Given the description of an element on the screen output the (x, y) to click on. 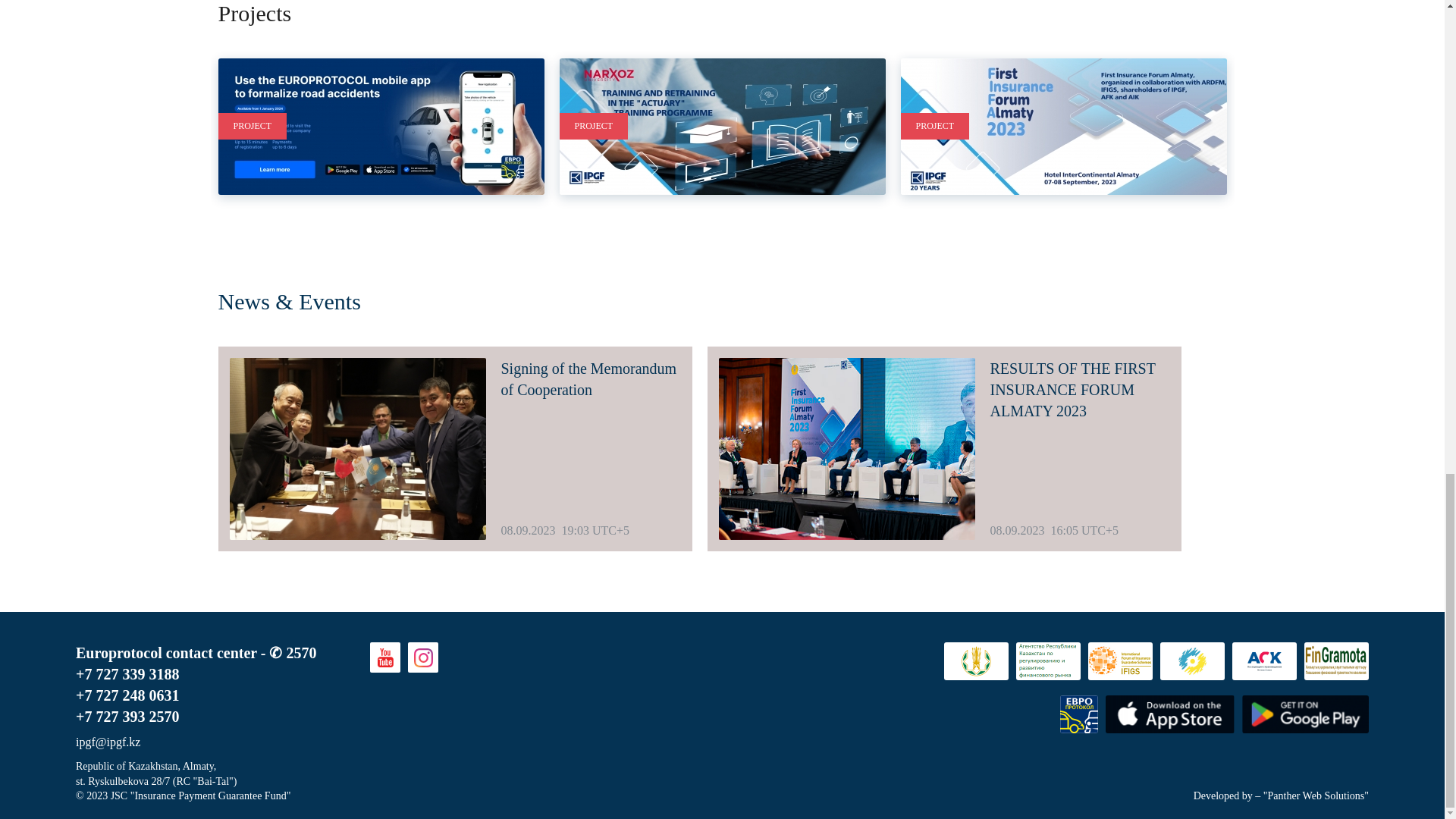
Web design and development, Almaty, Kazakhstan (1222, 795)
